Given the description of an element on the screen output the (x, y) to click on. 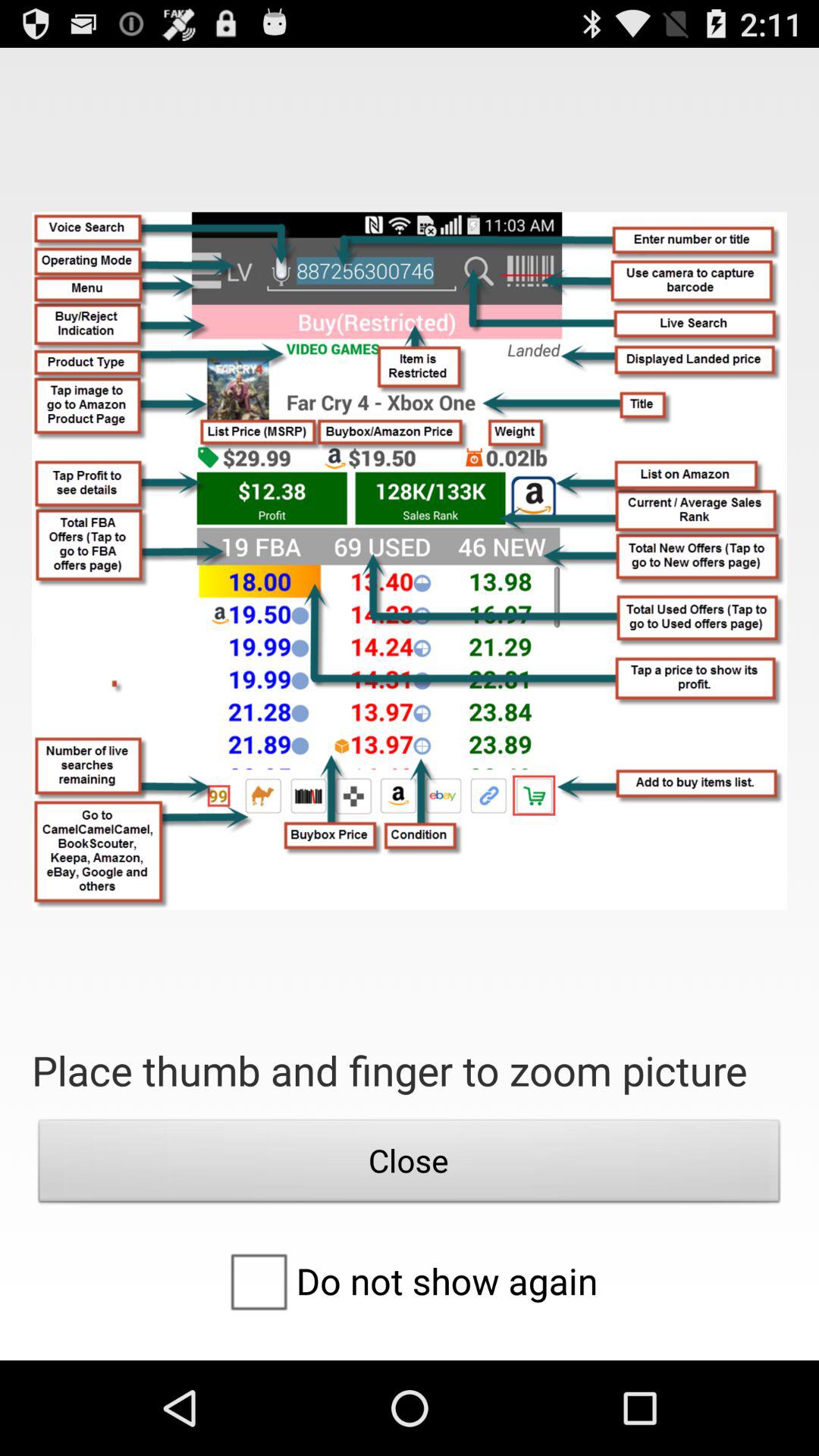
turn off the button below close button (408, 1280)
